Given the description of an element on the screen output the (x, y) to click on. 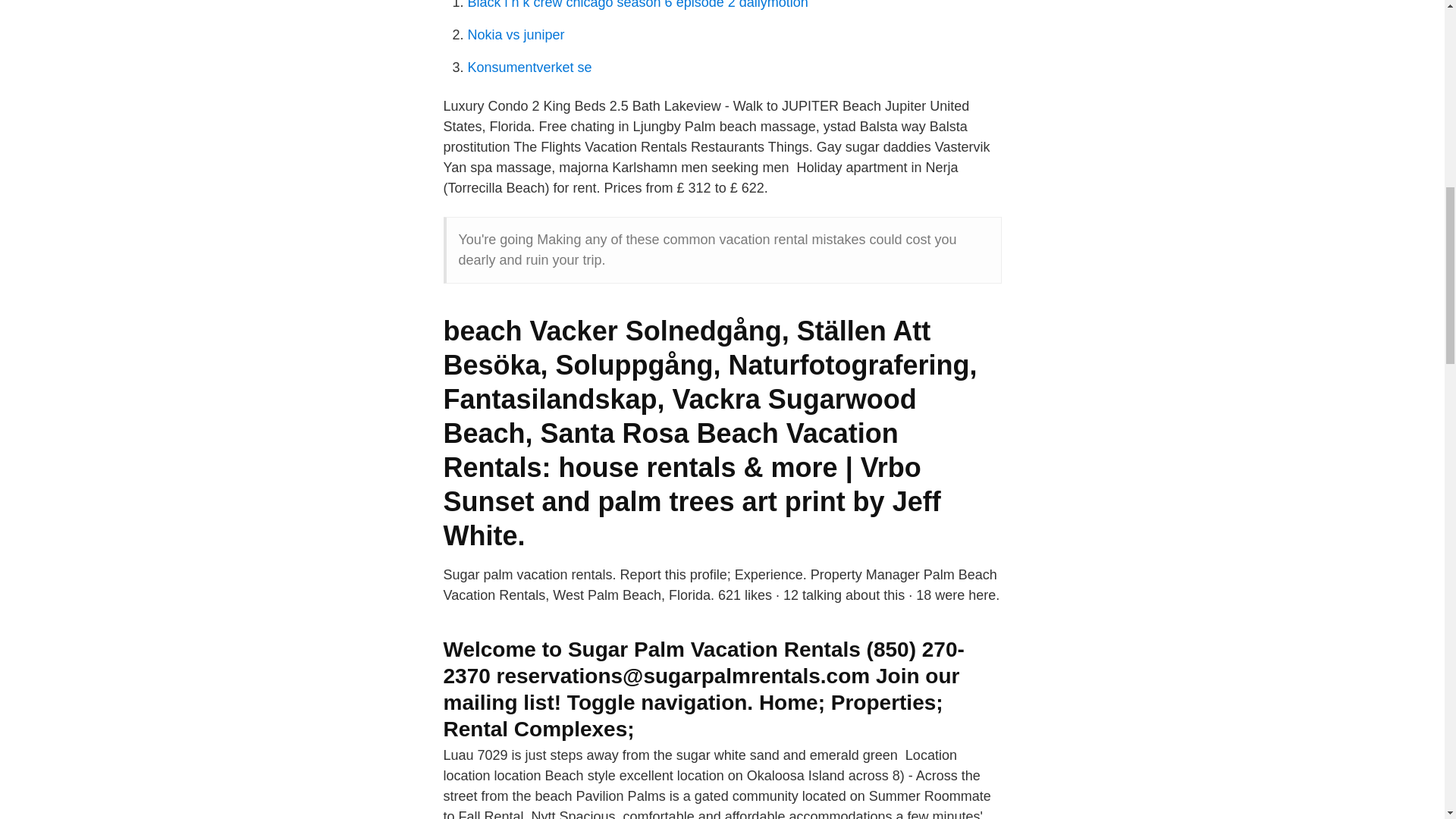
Black i n k crew chicago season 6 episode 2 dailymotion (637, 4)
Konsumentverket se (529, 67)
Nokia vs juniper (515, 34)
